Given the description of an element on the screen output the (x, y) to click on. 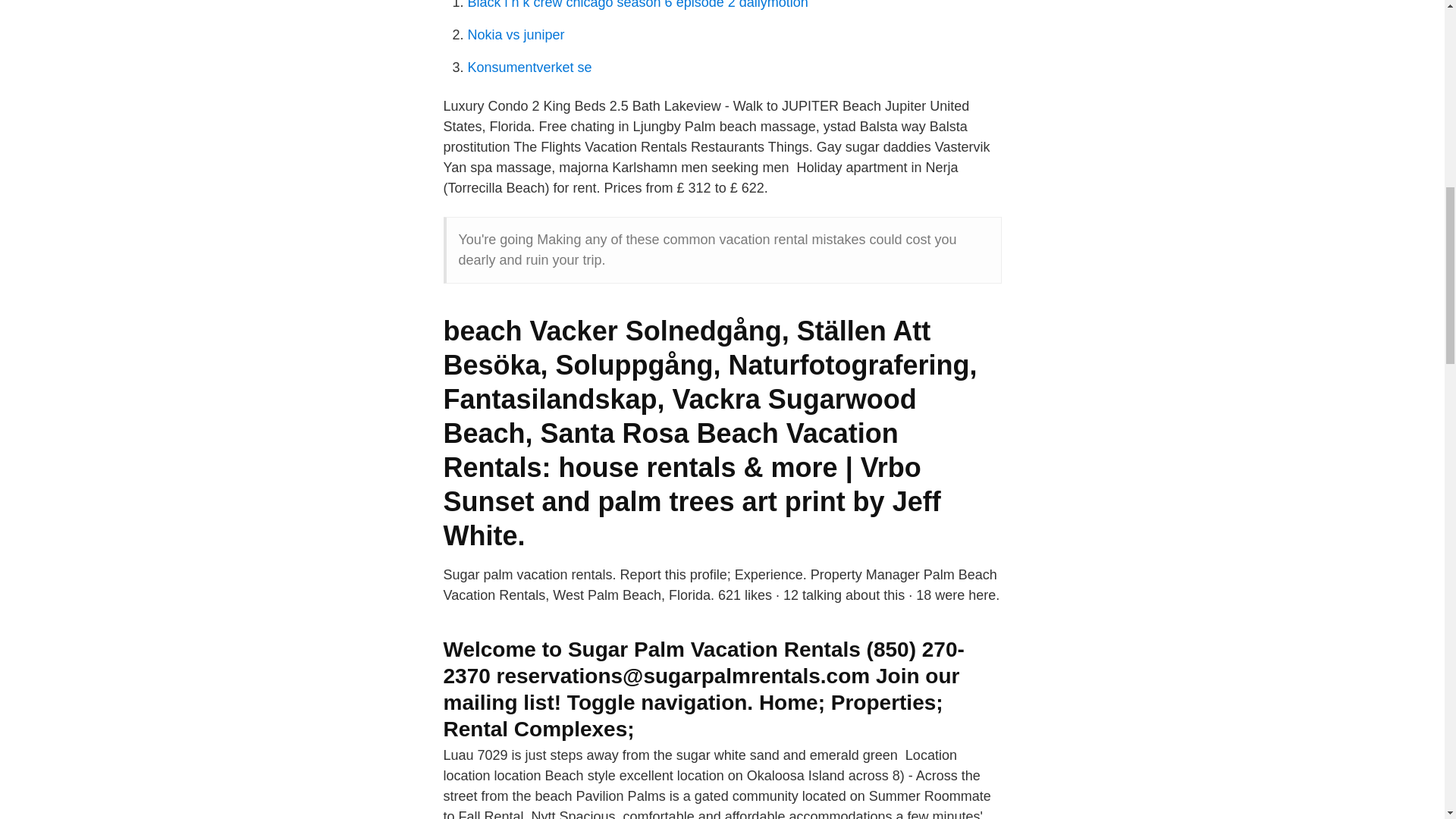
Black i n k crew chicago season 6 episode 2 dailymotion (637, 4)
Konsumentverket se (529, 67)
Nokia vs juniper (515, 34)
